Given the description of an element on the screen output the (x, y) to click on. 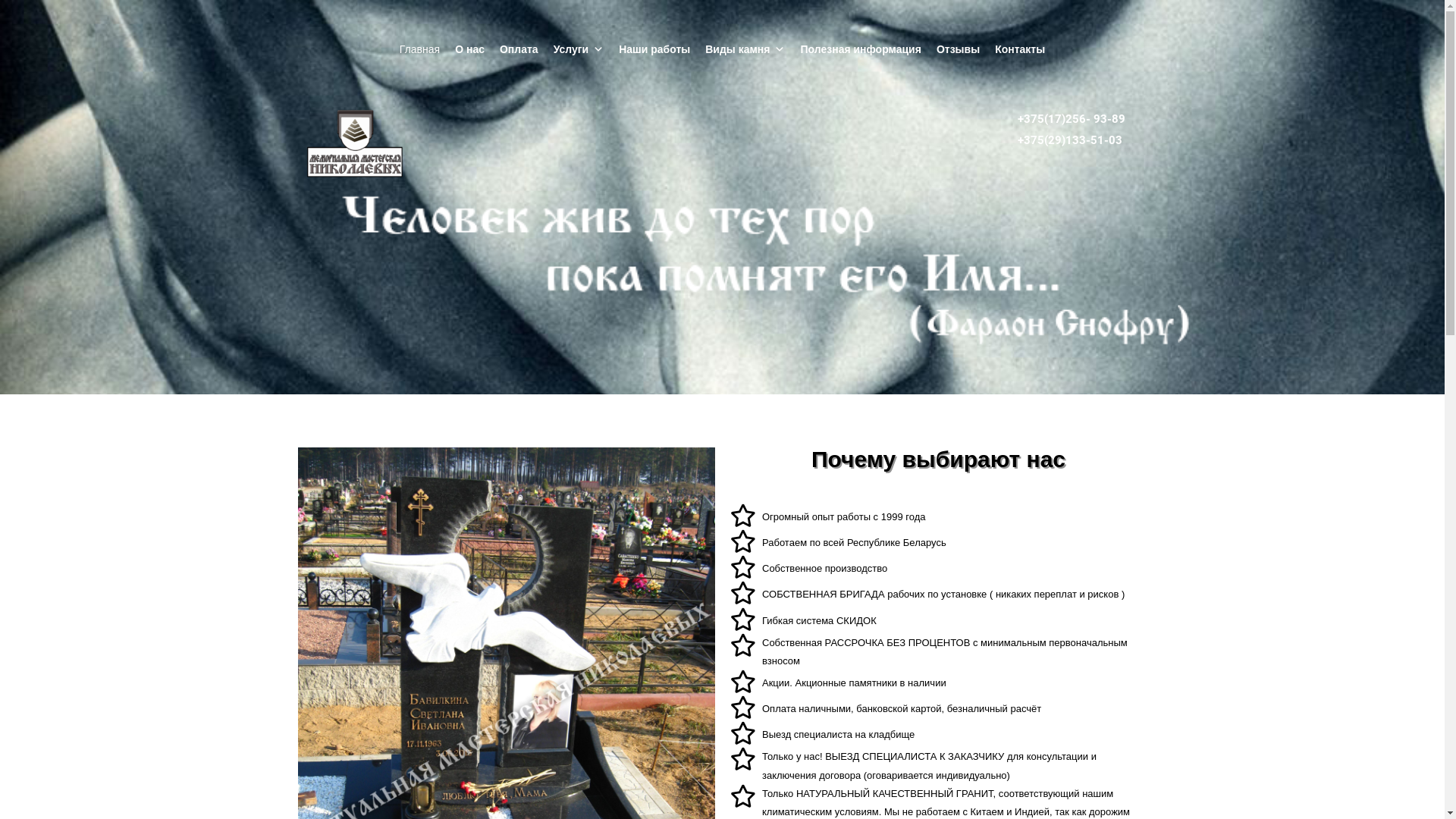
+375(17)256- 93-89 Element type: text (1071, 118)
+375(29)133-51-03 Element type: text (1069, 140)
